Given the description of an element on the screen output the (x, y) to click on. 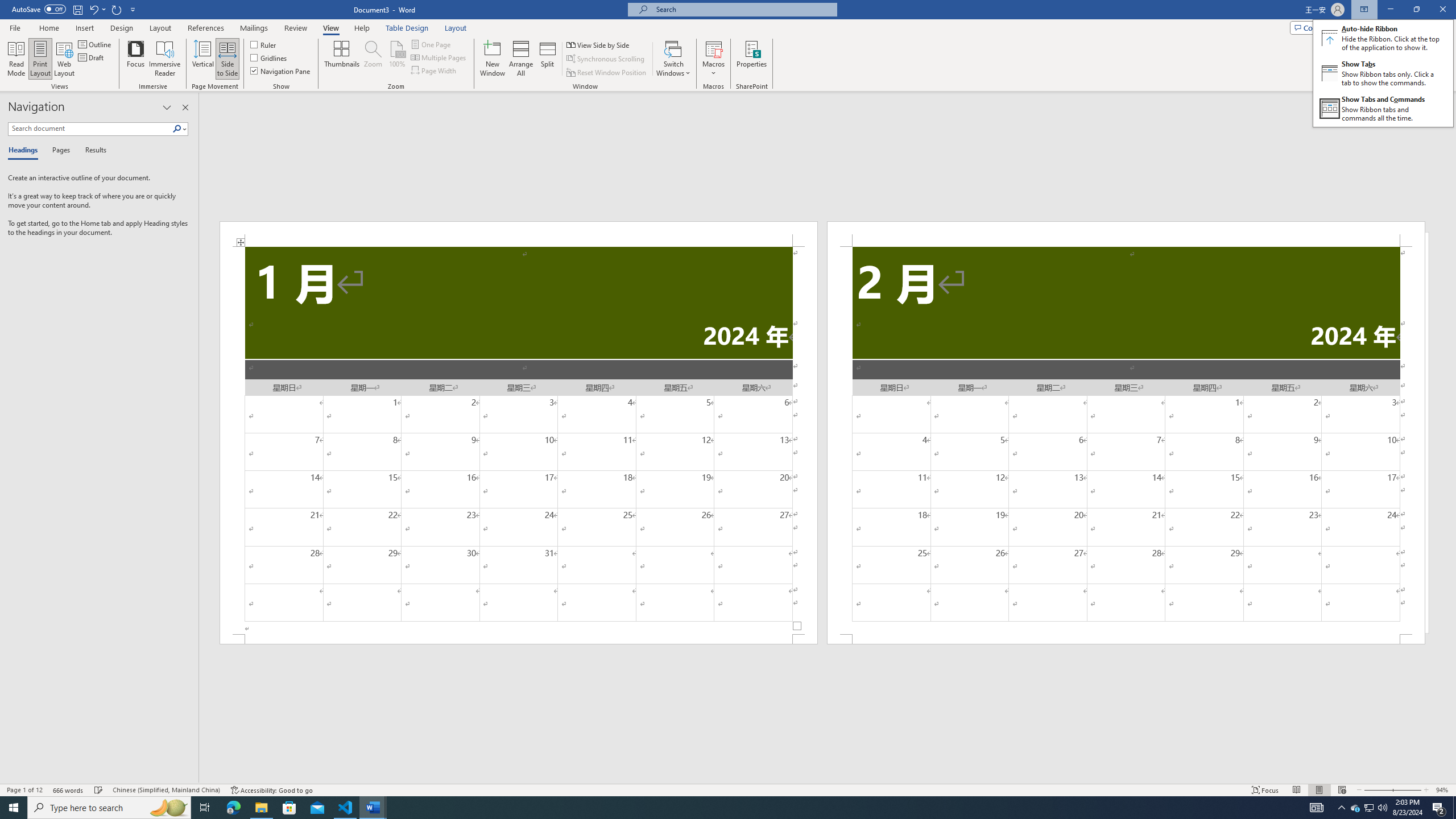
Print Layout (1318, 790)
Thumbnails (342, 58)
One Page (431, 44)
Switch Windows (673, 58)
Zoom... (372, 58)
Immersive Reader (165, 58)
Arrange All (521, 58)
Footer -Section 1- (518, 638)
Header -Section 1- (518, 233)
User Promoted Notification Area (1368, 807)
Show desktop (1454, 807)
Web Layout (1342, 790)
